Given the description of an element on the screen output the (x, y) to click on. 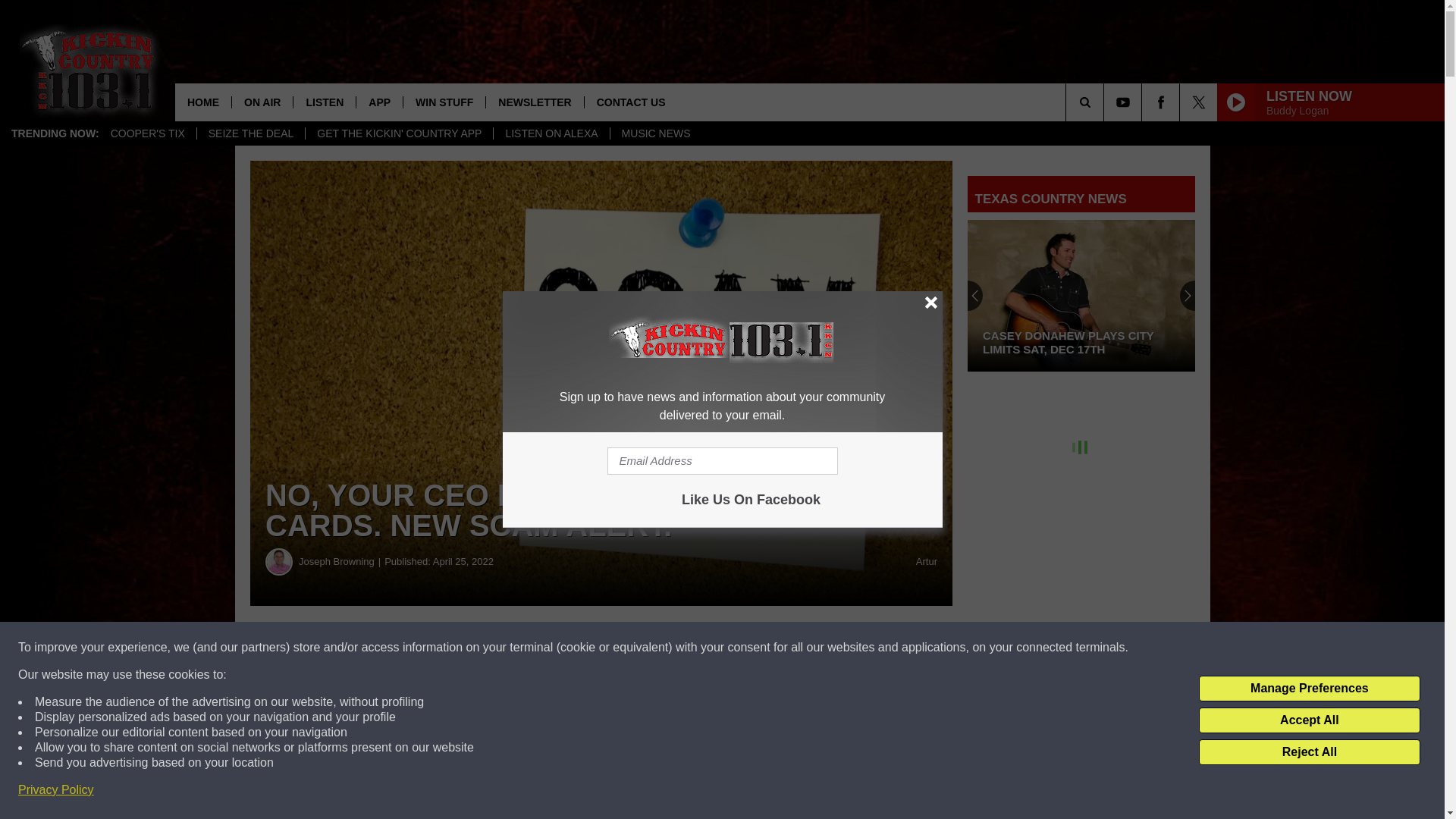
ON AIR (261, 102)
SEARCH (1106, 102)
MUSIC NEWS (655, 133)
GET THE KICKIN' COUNTRY APP (398, 133)
SEIZE THE DEAL (250, 133)
Share on Twitter (741, 647)
SEARCH (1106, 102)
APP (379, 102)
Privacy Policy (55, 789)
COOPER'S TIX (147, 133)
Accept All (1309, 720)
Manage Preferences (1309, 688)
Share on Facebook (460, 647)
Email Address (722, 461)
WIN STUFF (443, 102)
